Given the description of an element on the screen output the (x, y) to click on. 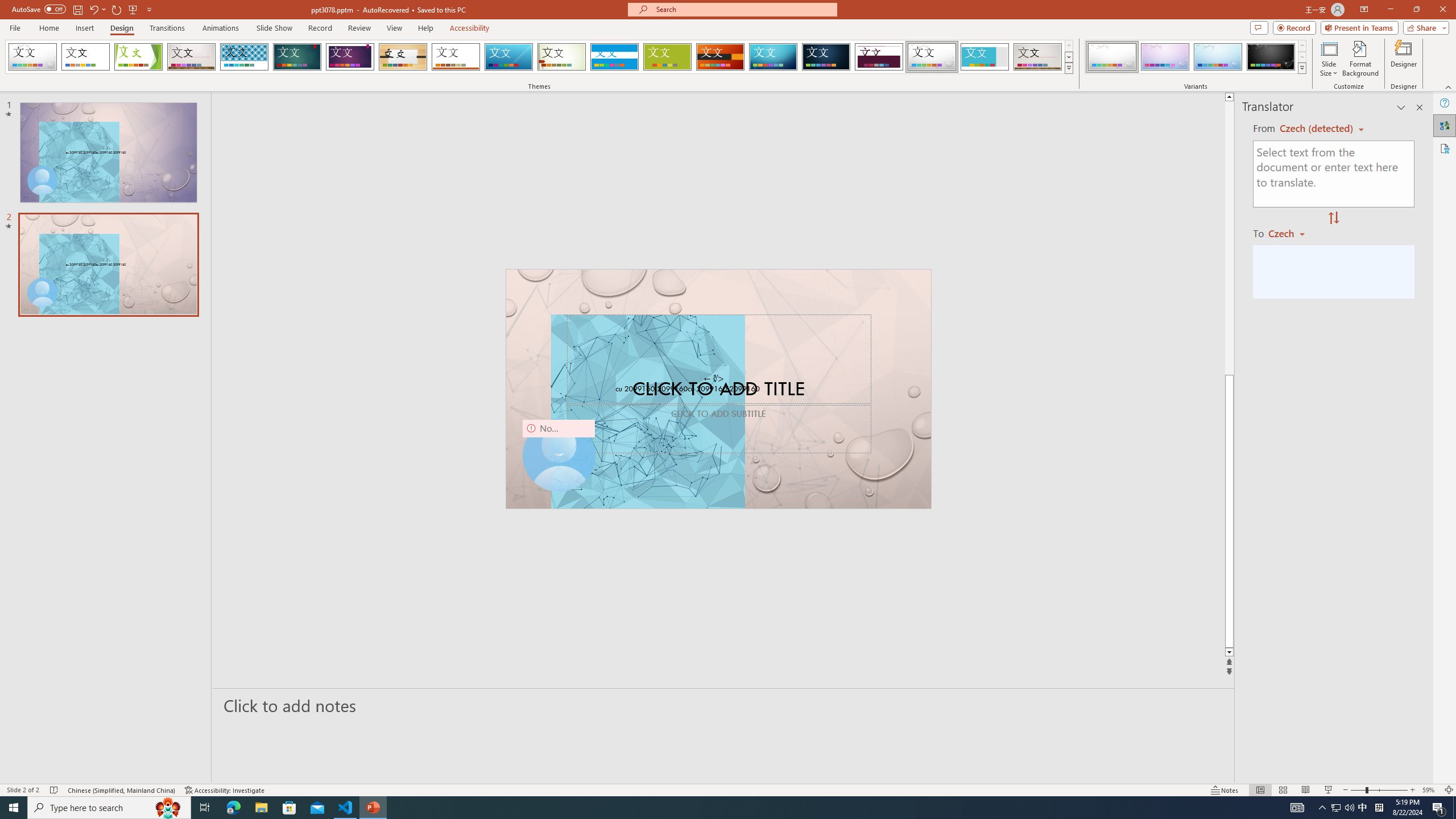
Zoom 59% (1430, 790)
Ion (296, 56)
Czech (detected) (1317, 128)
Format Background (1360, 58)
